Given the description of an element on the screen output the (x, y) to click on. 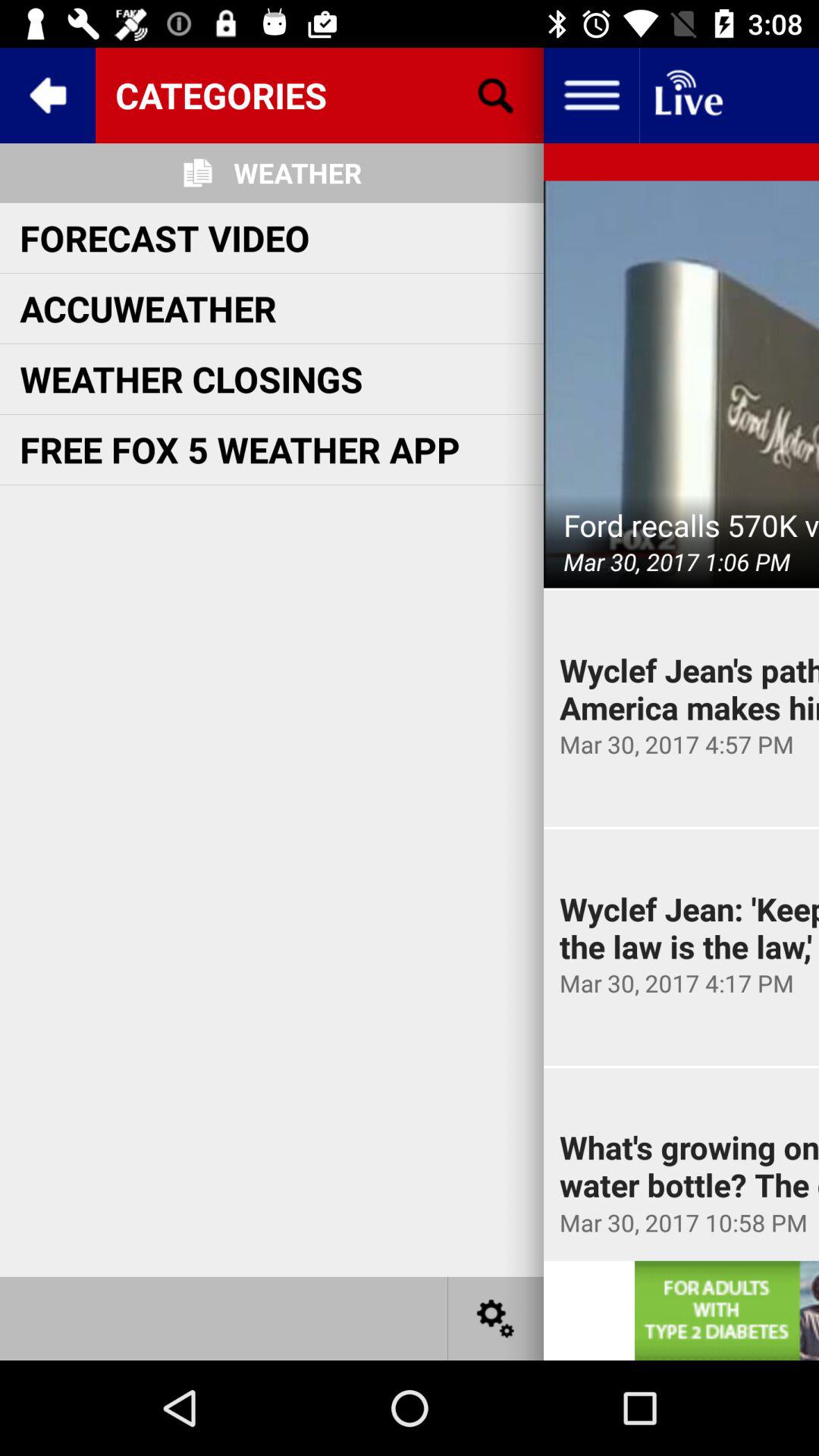
check app settings (495, 1318)
